Given the description of an element on the screen output the (x, y) to click on. 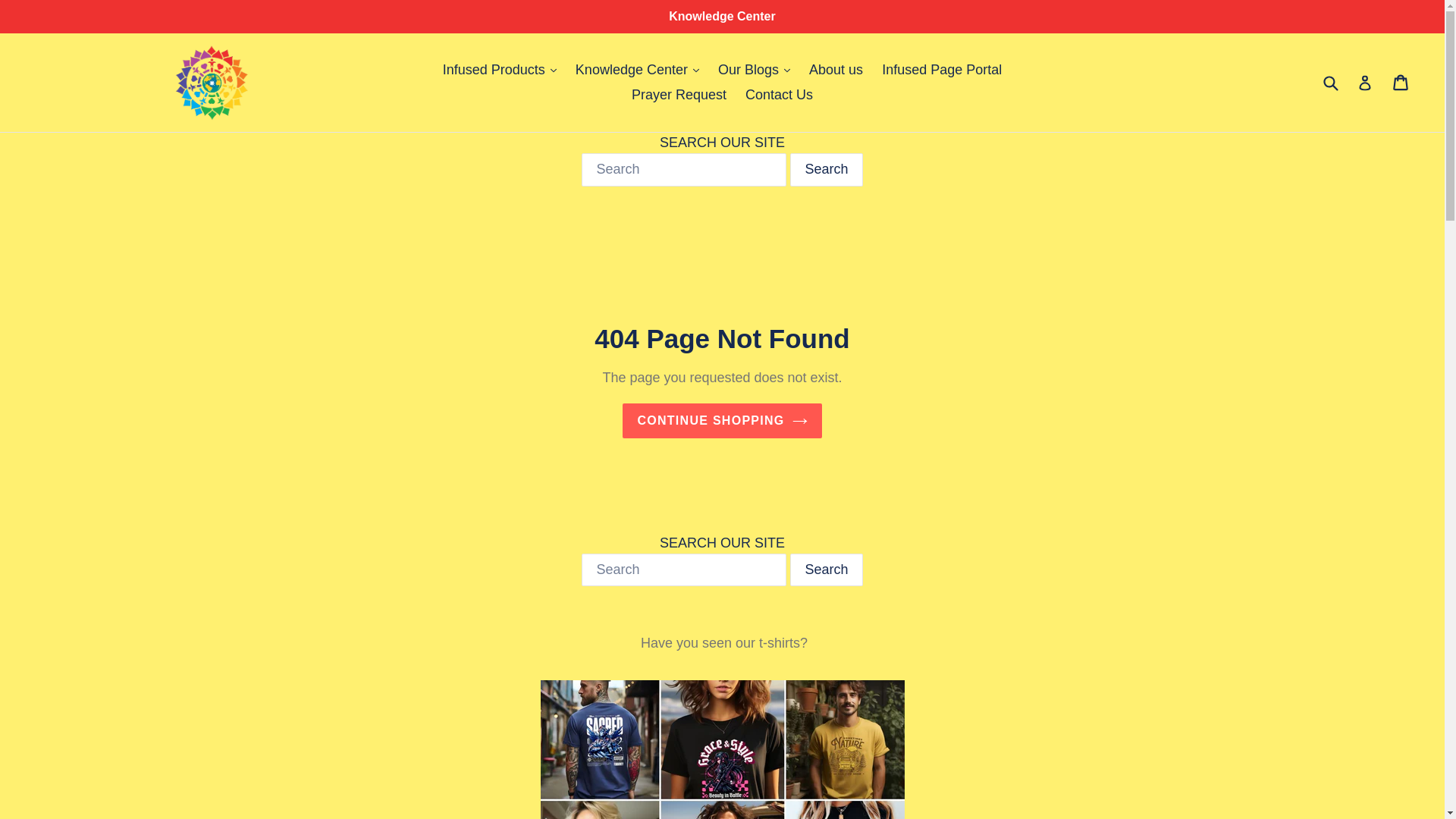
Search (825, 570)
Search (825, 169)
